Given the description of an element on the screen output the (x, y) to click on. 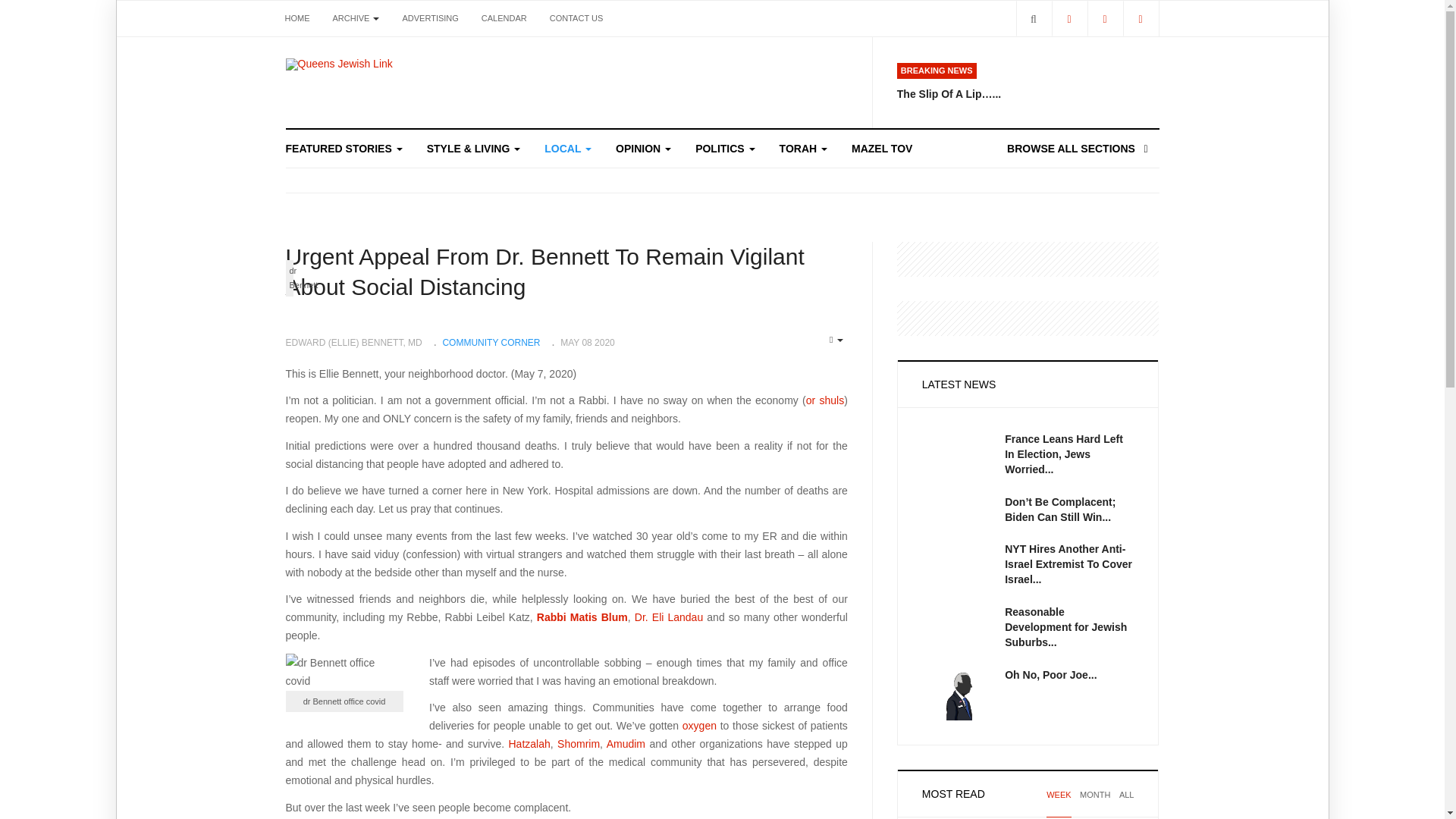
Week (1058, 804)
ARCHIVE (356, 18)
dr Bennett office covid (331, 671)
Twitter (1104, 18)
All (1126, 804)
ADVERTISING (429, 18)
Facebook (1068, 18)
HOME (296, 18)
Queens Jewish Link (338, 64)
Month (1094, 804)
Instagram (1139, 18)
